Given the description of an element on the screen output the (x, y) to click on. 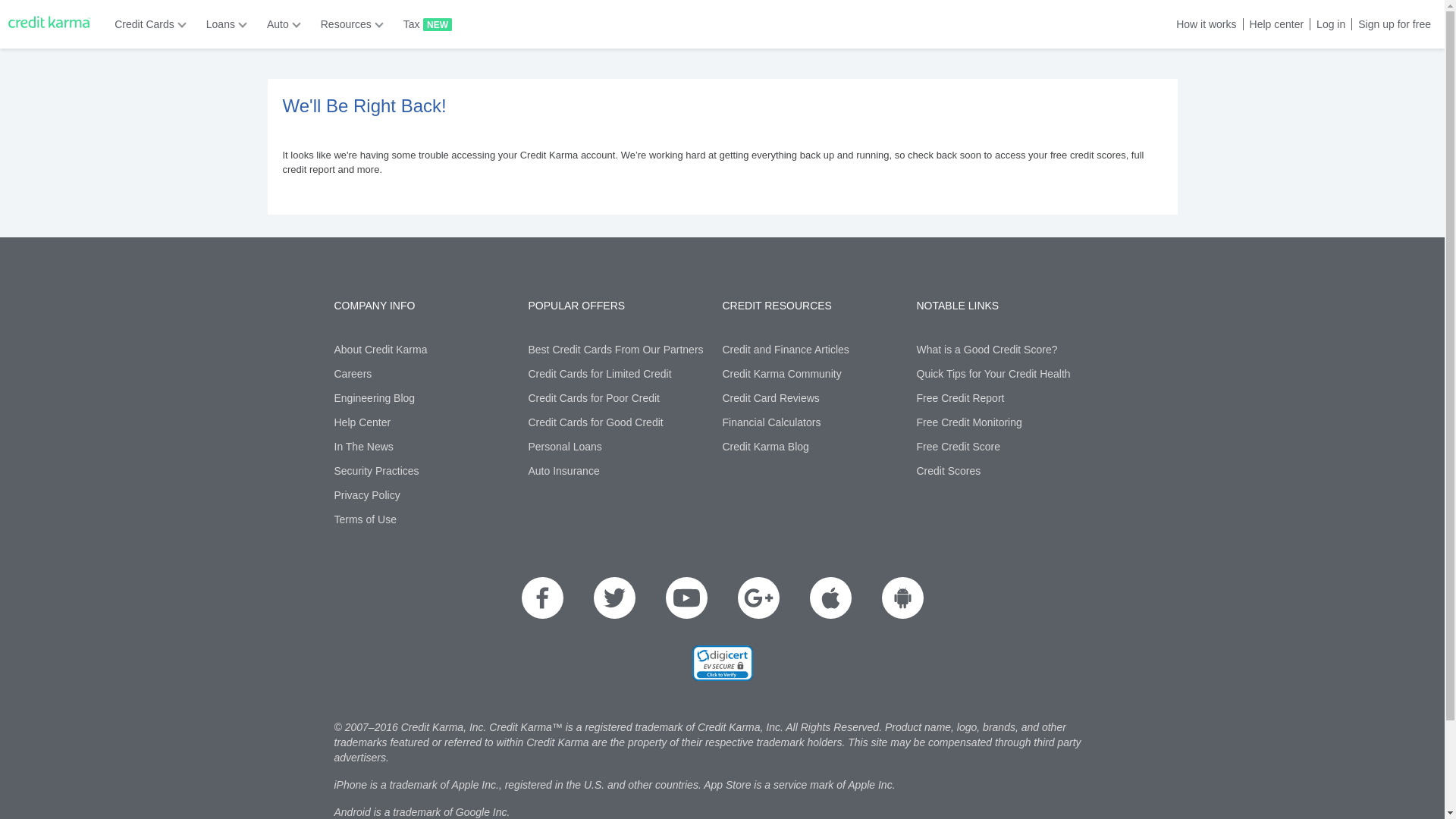
Help center (1273, 23)
Download Android App (901, 598)
Credit Cards (146, 23)
Twitter (613, 598)
Download iOS App (830, 598)
Resources (347, 23)
YouTube (686, 598)
Sign up for free (1391, 23)
Google Plus (757, 598)
Log in (1326, 23)
